Given the description of an element on the screen output the (x, y) to click on. 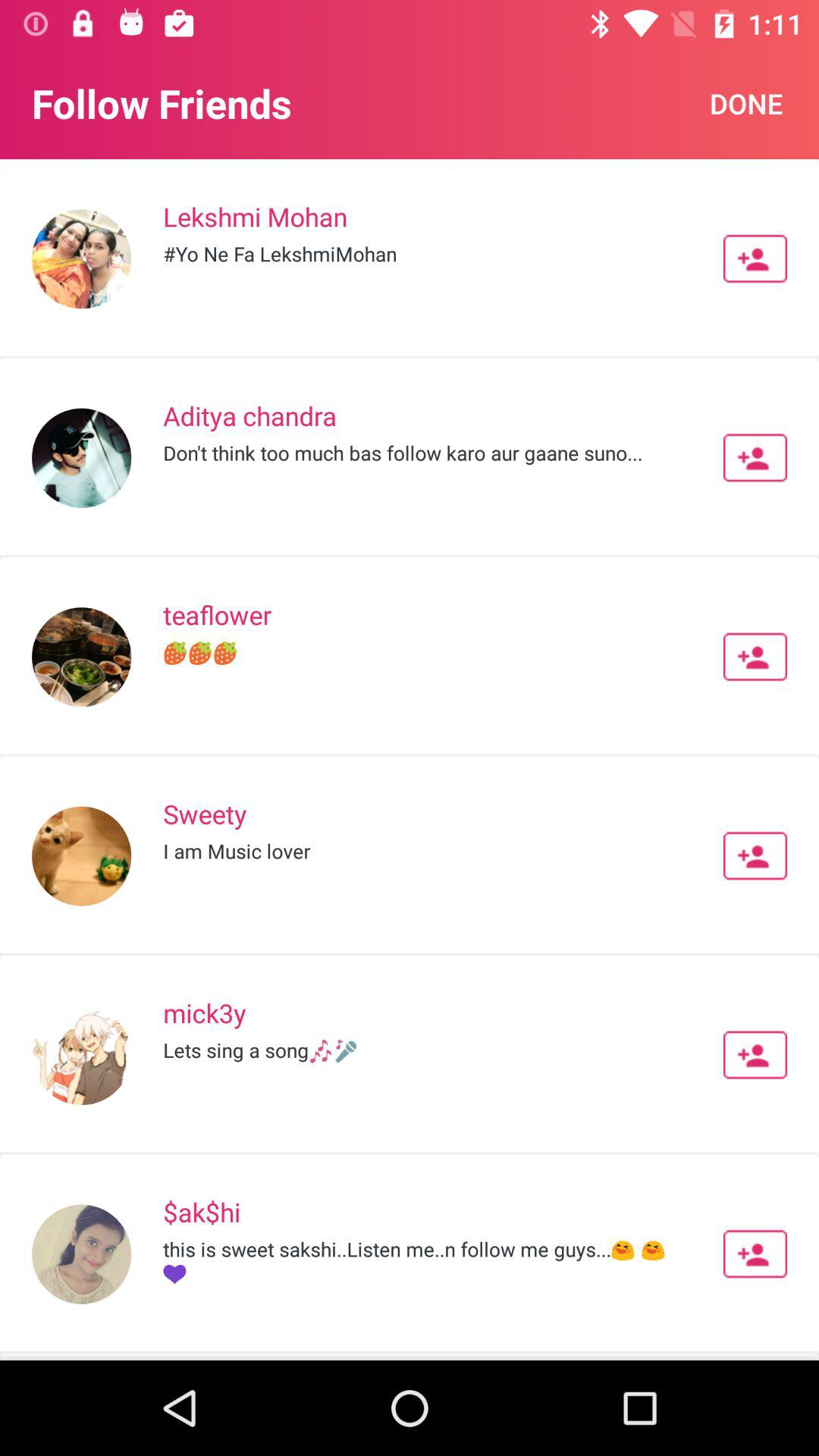
toggle a add friend option (755, 457)
